Given the description of an element on the screen output the (x, y) to click on. 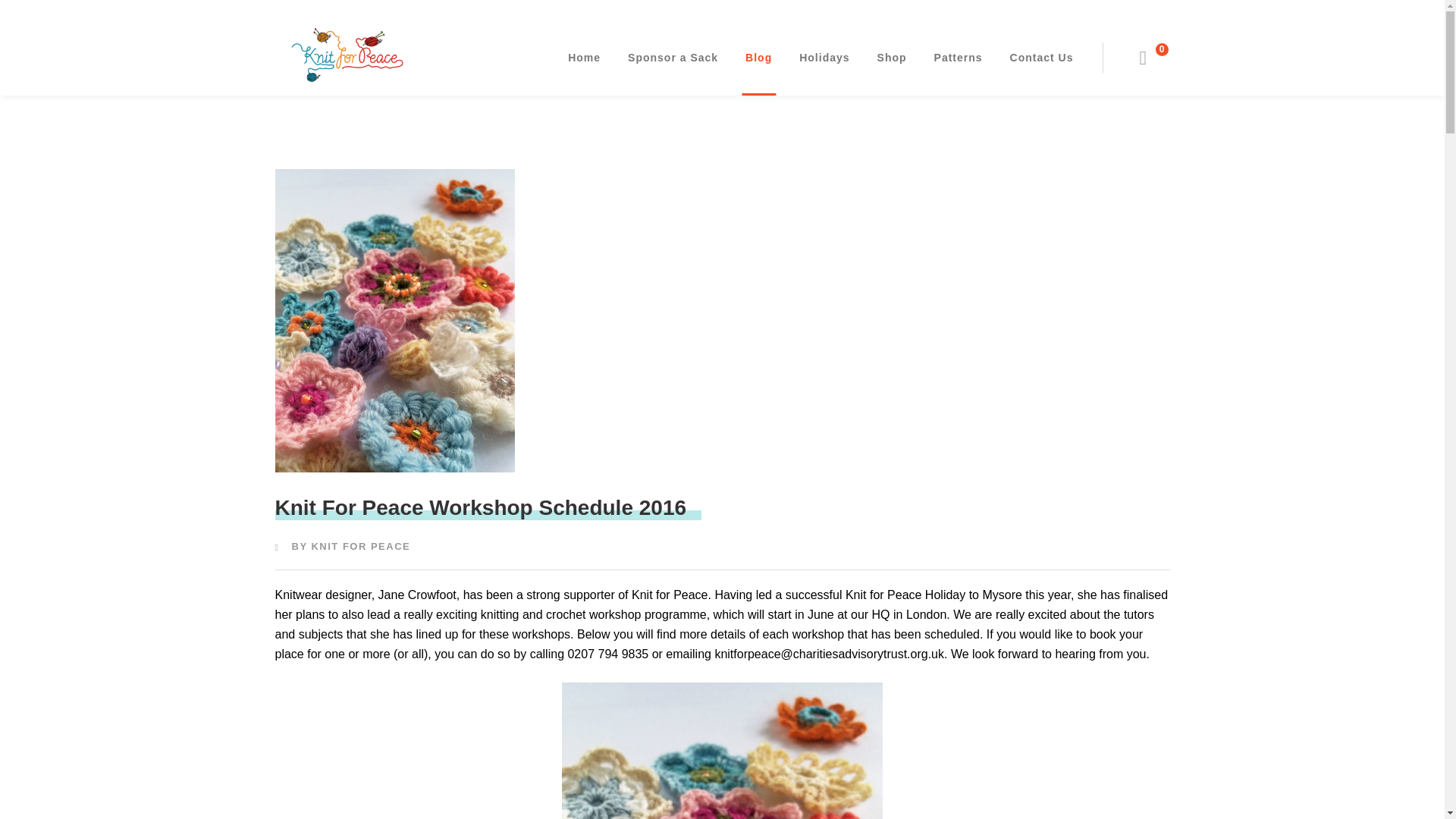
Sponsor a Sack (673, 57)
Knit For Peace (346, 53)
View all posts by Knit For Peace (360, 546)
0 (1153, 57)
Contact Us (1041, 57)
KNIT FOR PEACE (360, 546)
